Given the description of an element on the screen output the (x, y) to click on. 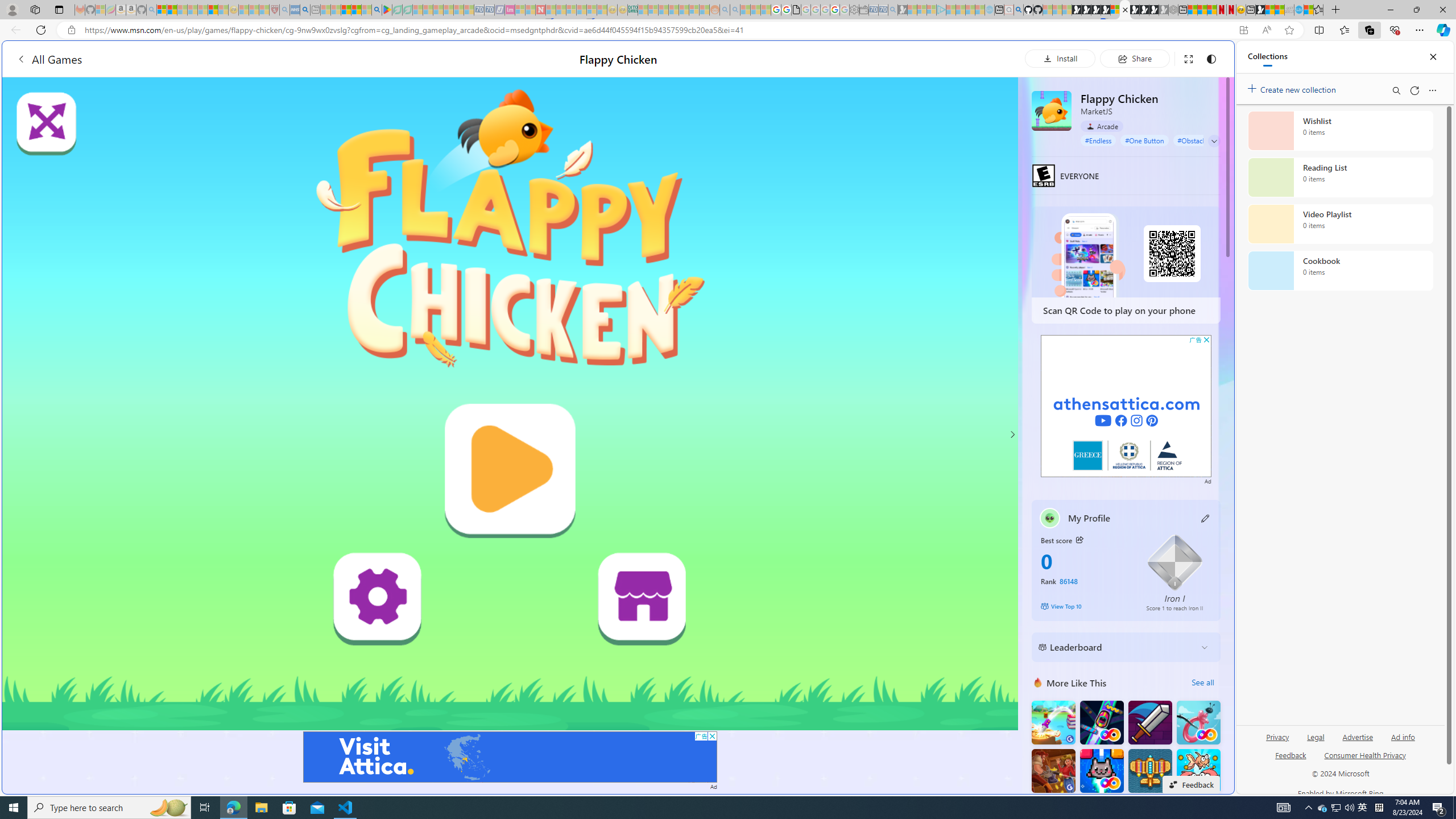
Close split screen (1208, 57)
Full screen (1187, 58)
Class: expand-arrow neutral (1214, 141)
